Given the description of an element on the screen output the (x, y) to click on. 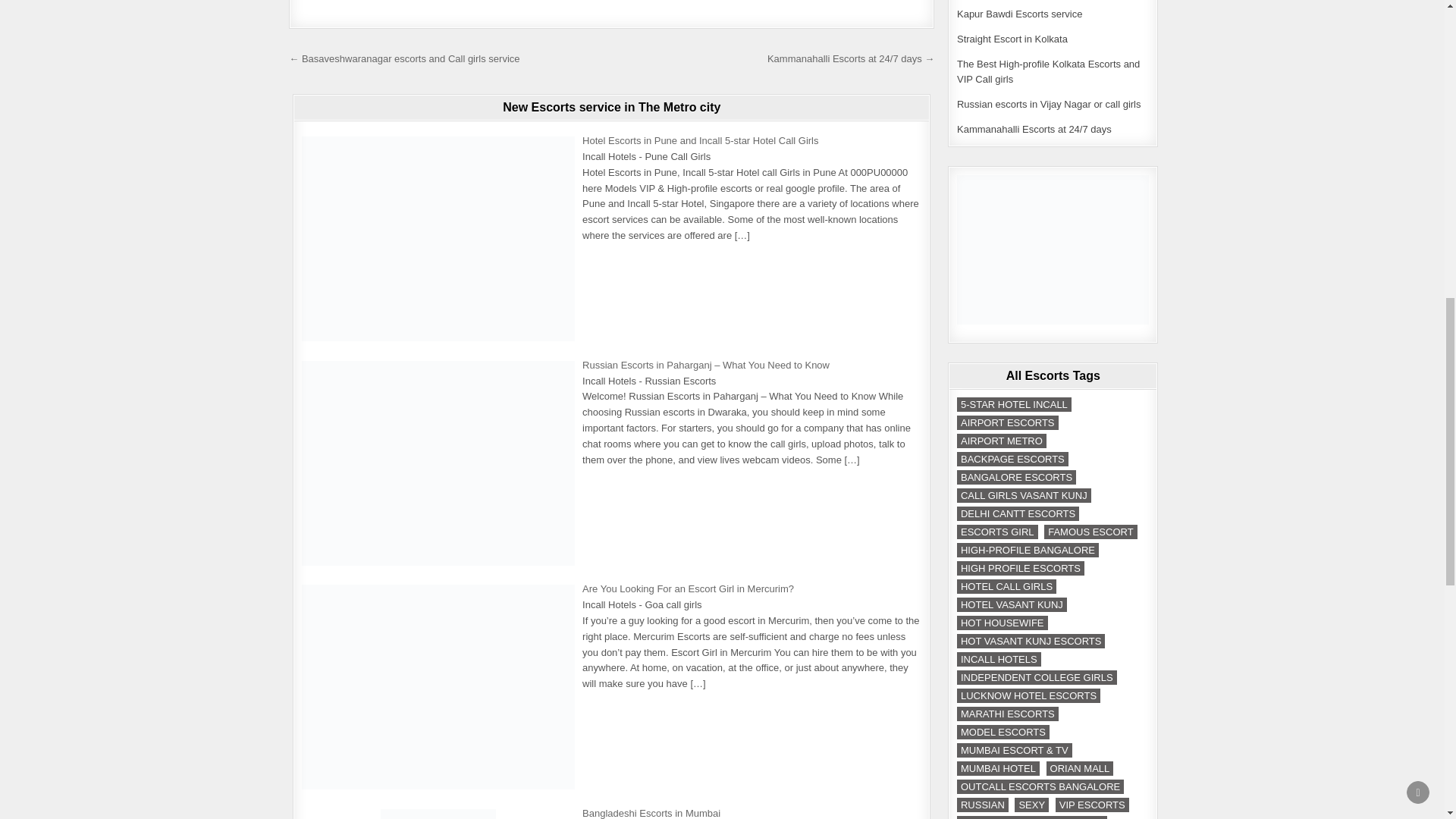
Hotel Escorts in Pune and Incall 5-star Hotel Call Girls (700, 140)
Are You Looking For an Escort Girl in Mercurim? (687, 588)
Bangladeshi Escorts in Mumbai (651, 813)
